Given the description of an element on the screen output the (x, y) to click on. 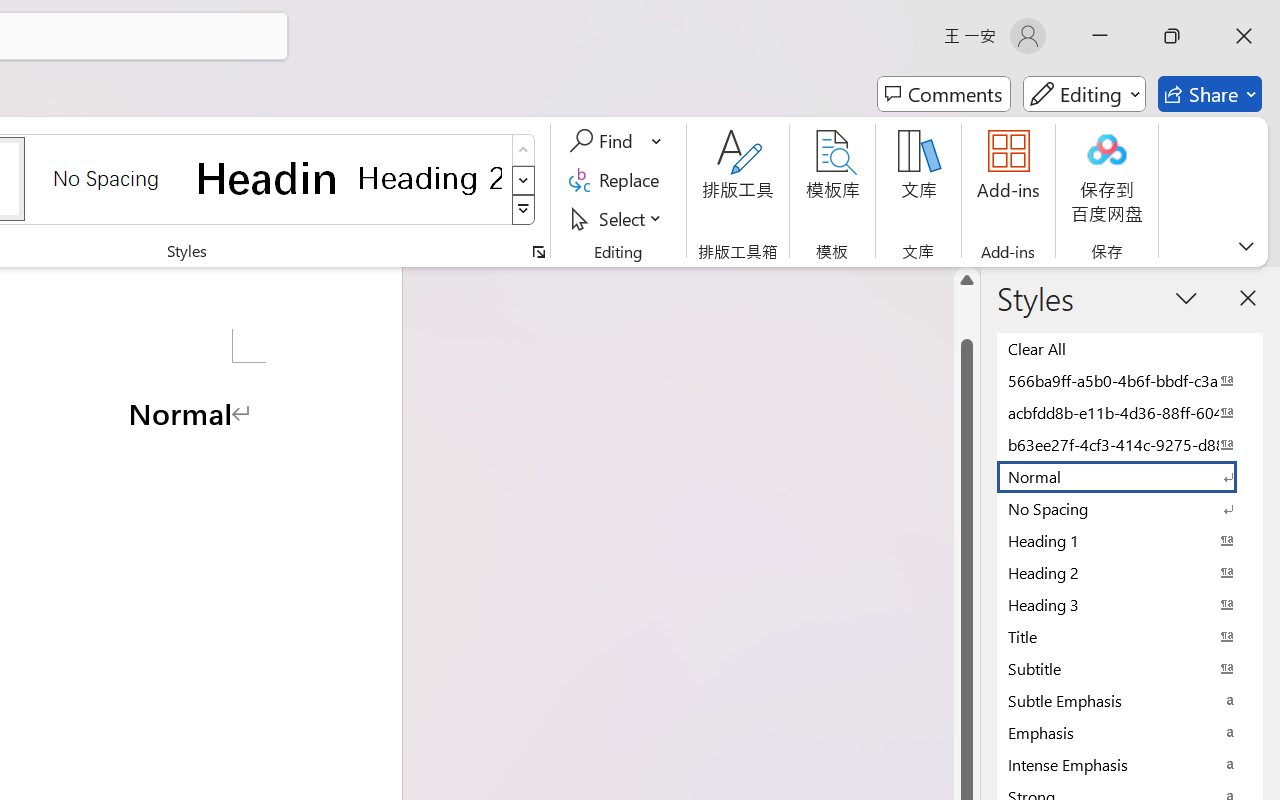
b63ee27f-4cf3-414c-9275-d88e3f90795e (1130, 444)
Heading 1 (267, 178)
Row up (523, 150)
Subtitle (1130, 668)
Heading 2 (429, 178)
Replace... (617, 179)
